Given the description of an element on the screen output the (x, y) to click on. 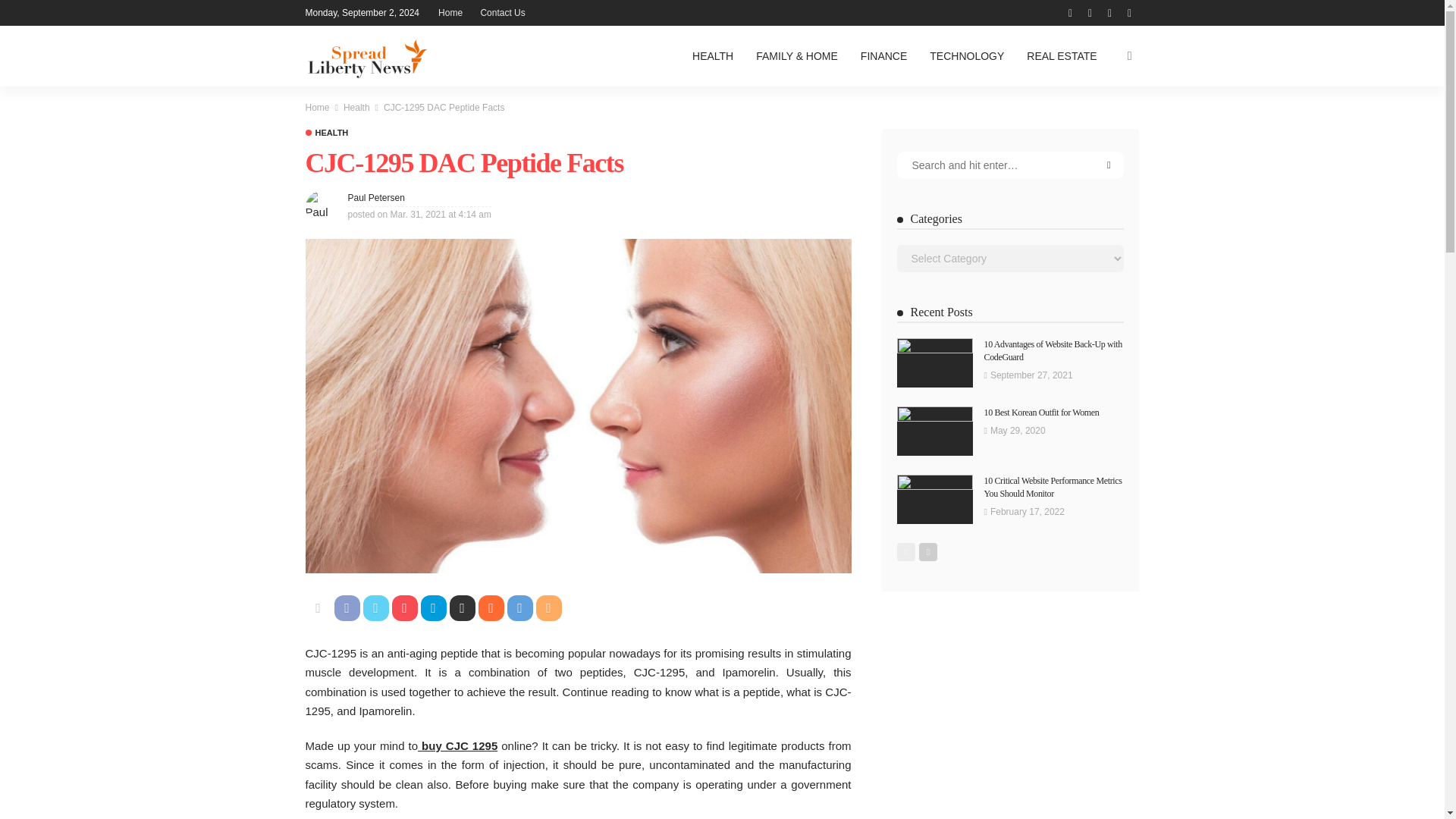
Health (325, 132)
10 Best Korean Outfit for Women (934, 430)
10 Advantages of Website Back-Up with CodeGuard (934, 362)
Home (316, 107)
spread liberty news (366, 55)
search for: (1010, 165)
10 Critical Website Performance Metrics You Should Monitor (934, 499)
10 Critical Website Performance Metrics You Should Monitor (1053, 486)
10 Best Korean Outfit for Women (1041, 412)
10 Advantages of Website Back-Up with CodeGuard (1053, 350)
